Given the description of an element on the screen output the (x, y) to click on. 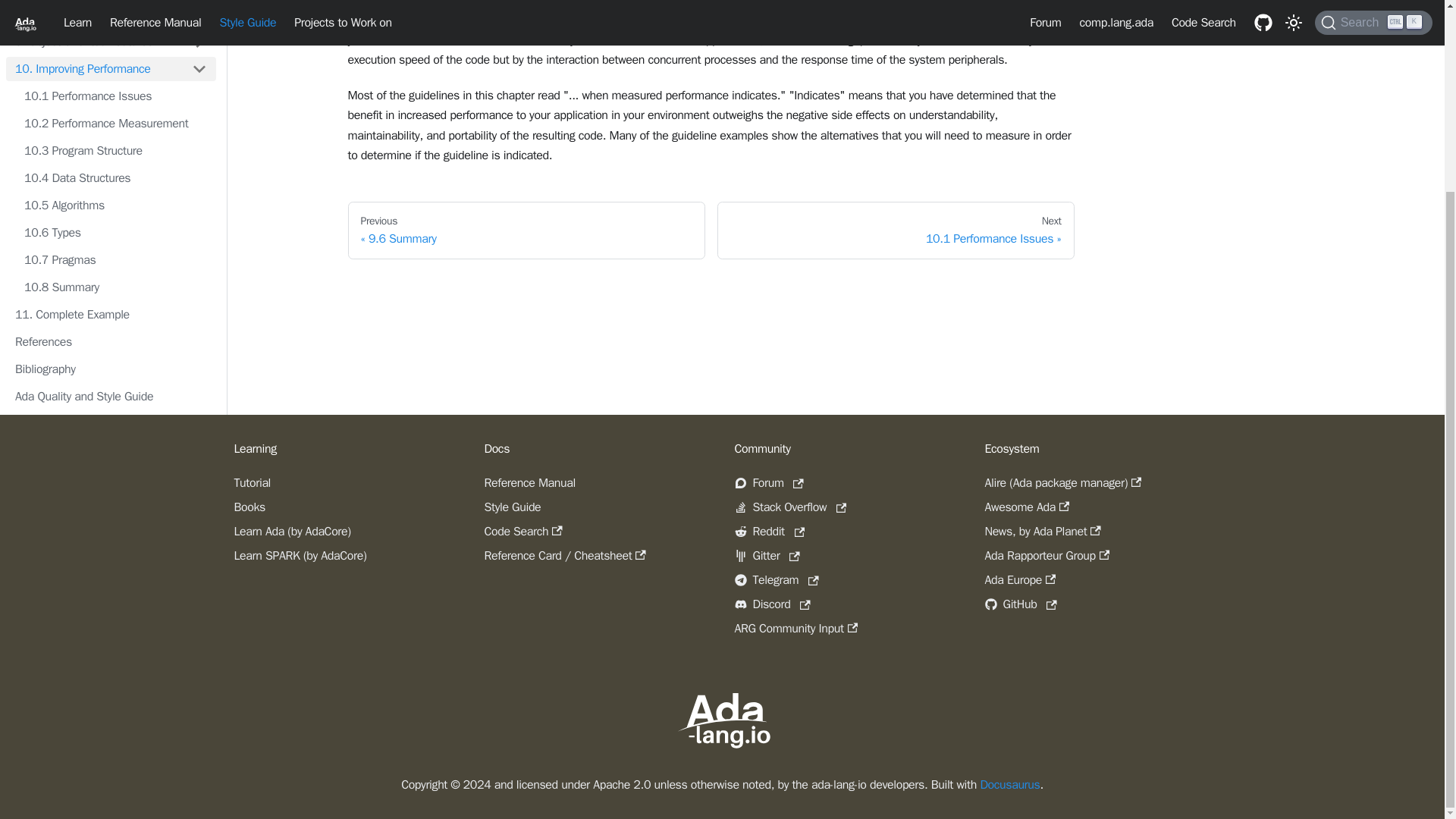
10.1 Performance Issues (114, 96)
9. Object-Oriented Features (94, 41)
10.6 Types (114, 232)
10.5 Algorithms (114, 205)
10.3 Program Structure (114, 150)
8. Reusability (94, 14)
10.2 Performance Measurement (114, 123)
10.4 Data Structures (114, 178)
10. Improving Performance (94, 68)
10.7 Pragmas (114, 259)
